Given the description of an element on the screen output the (x, y) to click on. 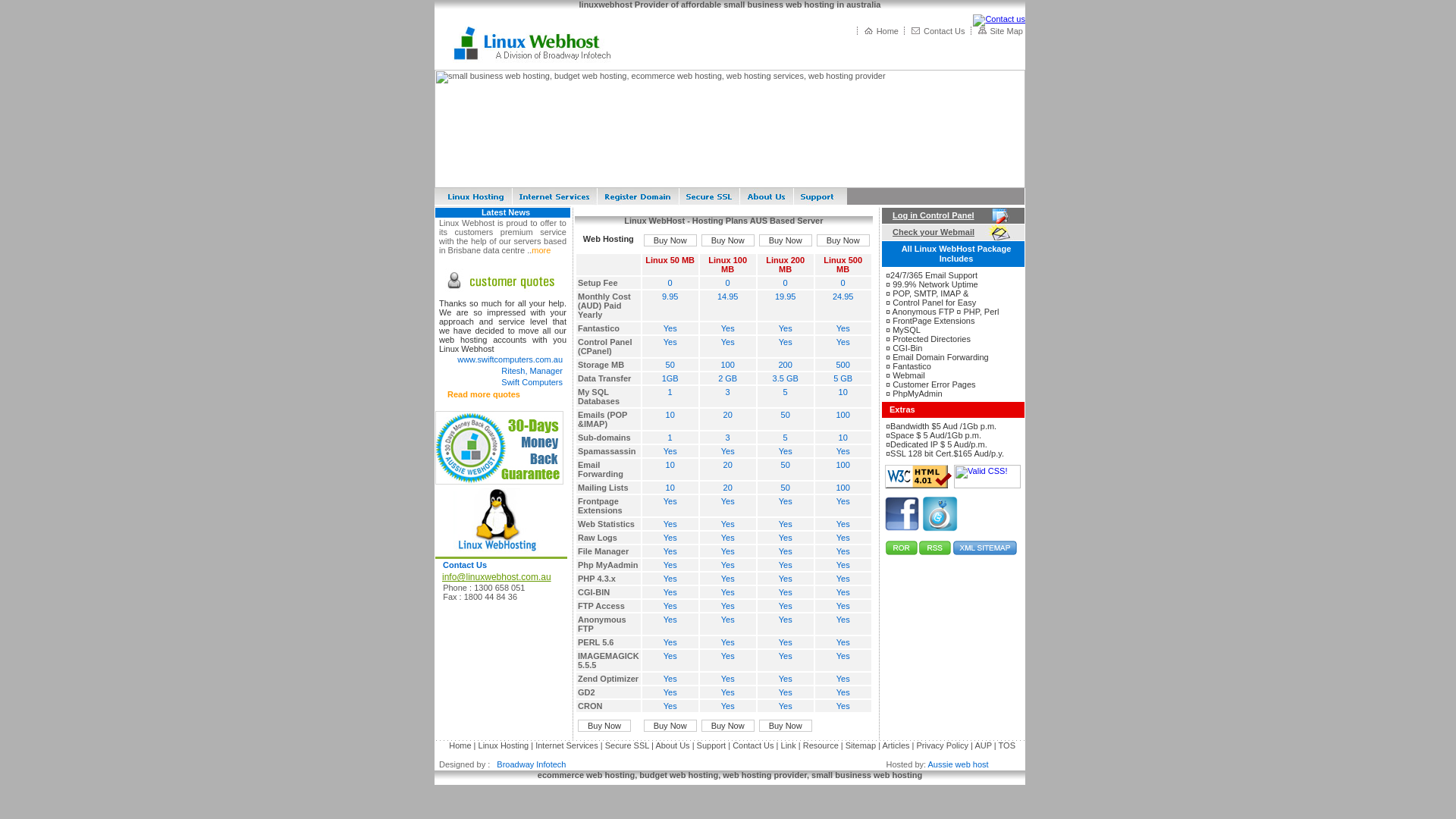
Contact Us Element type: text (752, 744)
more Element type: text (540, 249)
AUP Element type: text (982, 744)
Sitemap Element type: text (861, 744)
Privacy Policy Element type: text (942, 744)
Log in Control Panel Element type: text (929, 214)
Site Map Element type: text (1006, 30)
Buy Now Element type: text (603, 725)
Linux Hosting Element type: text (503, 744)
Buy Now Element type: text (727, 240)
Home Element type: text (459, 744)
About Us Element type: text (672, 744)
TOS Element type: text (1006, 744)
Internet Services Element type: text (566, 744)
Check your Webmail Element type: text (929, 231)
Read more quotes Element type: text (482, 393)
Secure SSL Element type: text (627, 744)
Buy Now Element type: text (785, 725)
Broadway Infotech Element type: text (529, 763)
Contact Us Element type: text (464, 564)
Home Element type: text (887, 30)
Aussie web host Element type: text (958, 763)
Buy Now Element type: text (785, 240)
Link | Element type: text (789, 744)
Articles Element type: text (896, 744)
Buy Now Element type: text (842, 240)
Buy Now Element type: text (727, 725)
Buy Now Element type: text (669, 240)
Resource Element type: text (821, 744)
info@linuxwebhost.com.au Element type: text (493, 576)
Contact Us Element type: text (943, 30)
Support Element type: text (711, 744)
Buy Now Element type: text (669, 725)
